Given the description of an element on the screen output the (x, y) to click on. 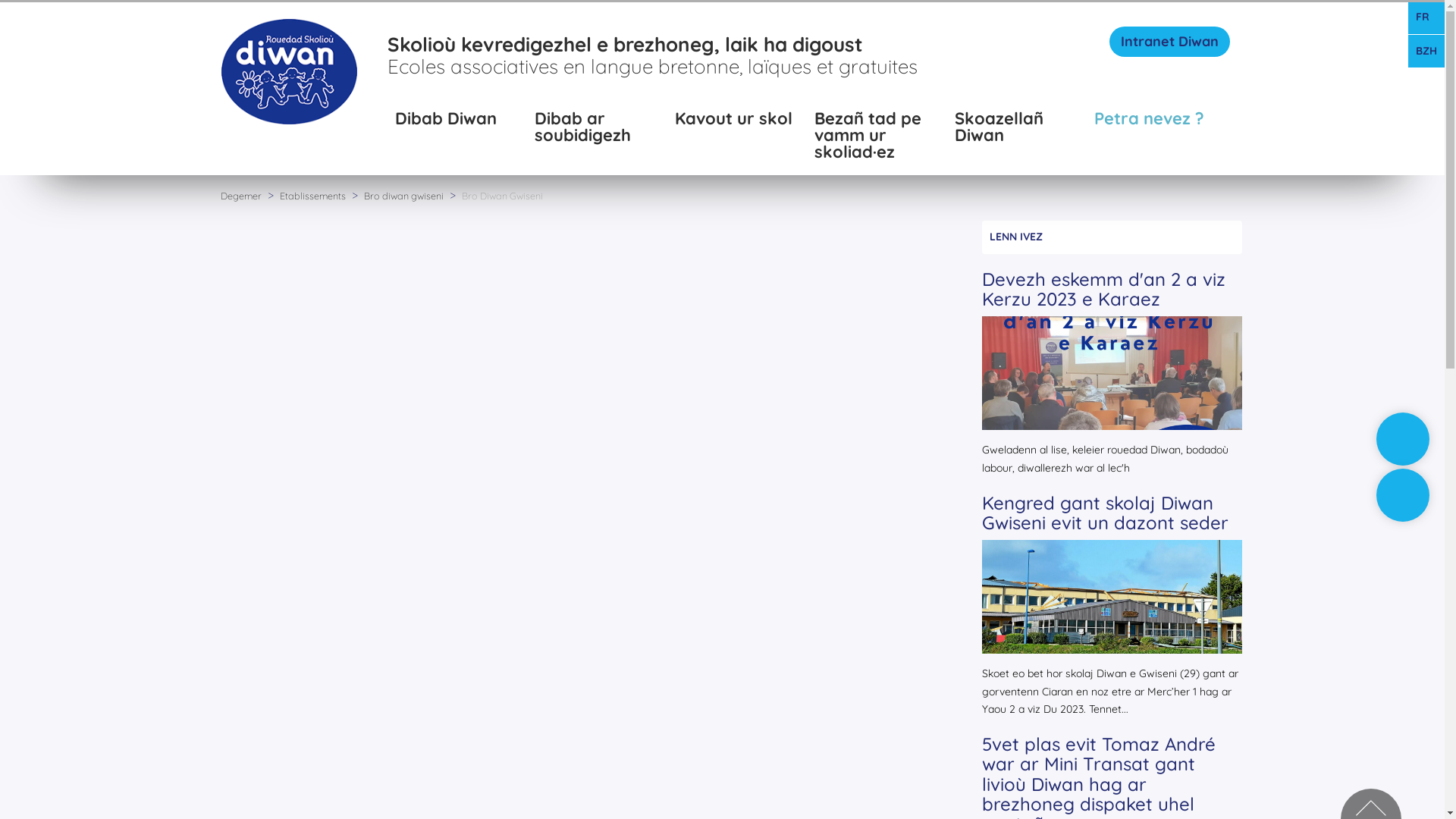
FR Element type: text (1426, 17)
Kavout ur skol Element type: text (737, 128)
Kengred gant skolaj Diwan Gwiseni evit un dazont seder Element type: text (1105, 512)
Intranet Diwan Element type: text (1169, 41)
+ Lire la suite Element type: text (1112, 325)
BZH Element type: text (1426, 51)
Degemer Element type: text (239, 195)
Etablissements Element type: text (313, 195)
+ Lire la suite Element type: text (1112, 548)
Bro diwan gwiseni Element type: text (404, 195)
Dibab Diwan Element type: text (457, 128)
Petra nevez ? Element type: text (1156, 128)
Retour page d'accueil Element type: hover (288, 70)
Devezh eskemm d'an 2 a viz Kerzu 2023 e Karaez Element type: text (1103, 288)
Dibab ar soubidigezh Element type: text (597, 128)
